Given the description of an element on the screen output the (x, y) to click on. 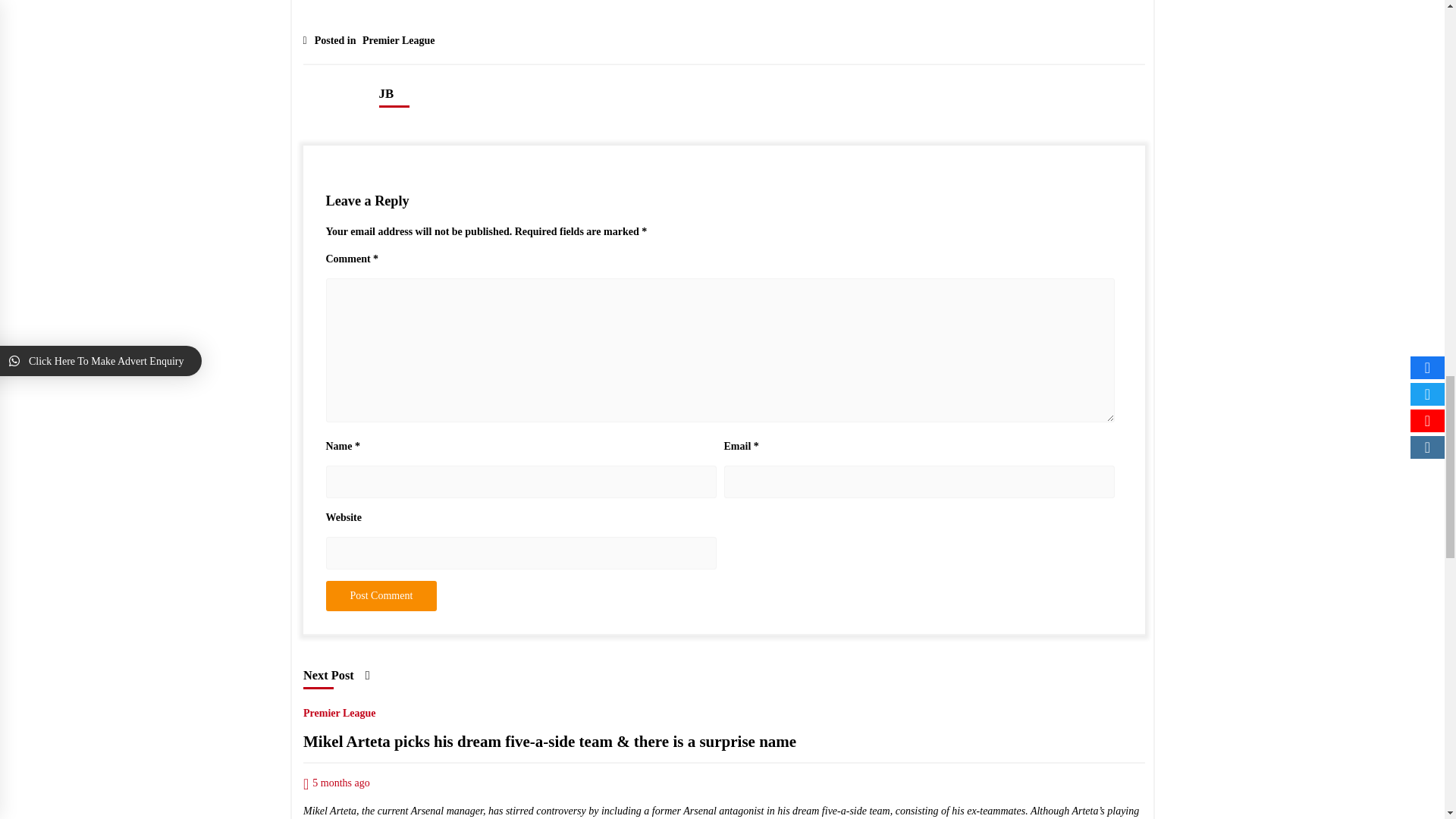
Post Comment (382, 595)
